Given the description of an element on the screen output the (x, y) to click on. 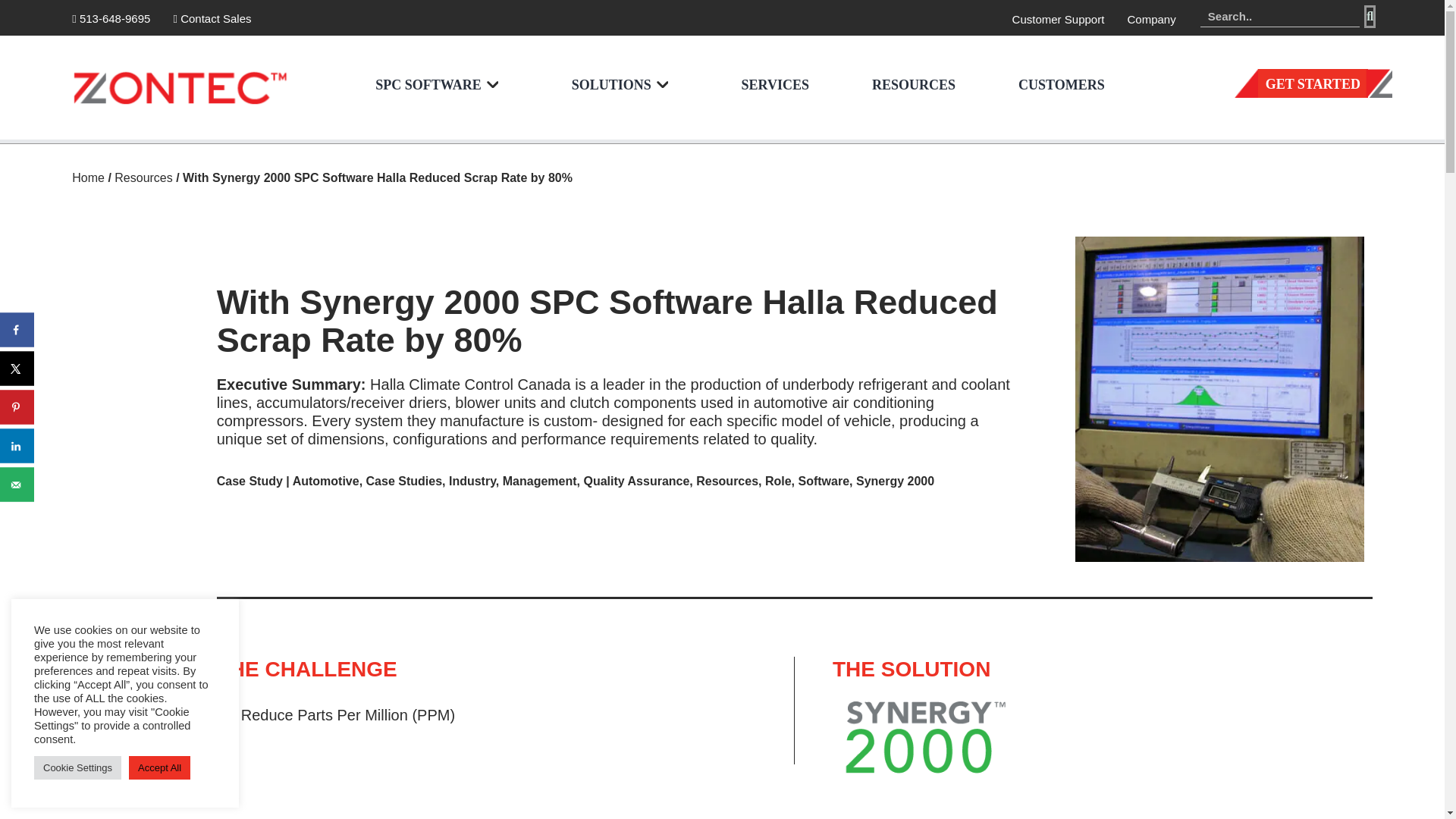
Customer Support (1058, 18)
GET STARTED (1312, 82)
Company (1150, 18)
SOLUTIONS (605, 87)
513-648-9695 (110, 18)
RESOURCES (908, 87)
Send over email (16, 483)
Share on Facebook (16, 329)
SERVICES (769, 87)
Contact Sales (211, 18)
Share on X (16, 368)
SPC SOFTWARE (423, 87)
Resources (143, 177)
Home (87, 177)
CUSTOMERS (1057, 87)
